Given the description of an element on the screen output the (x, y) to click on. 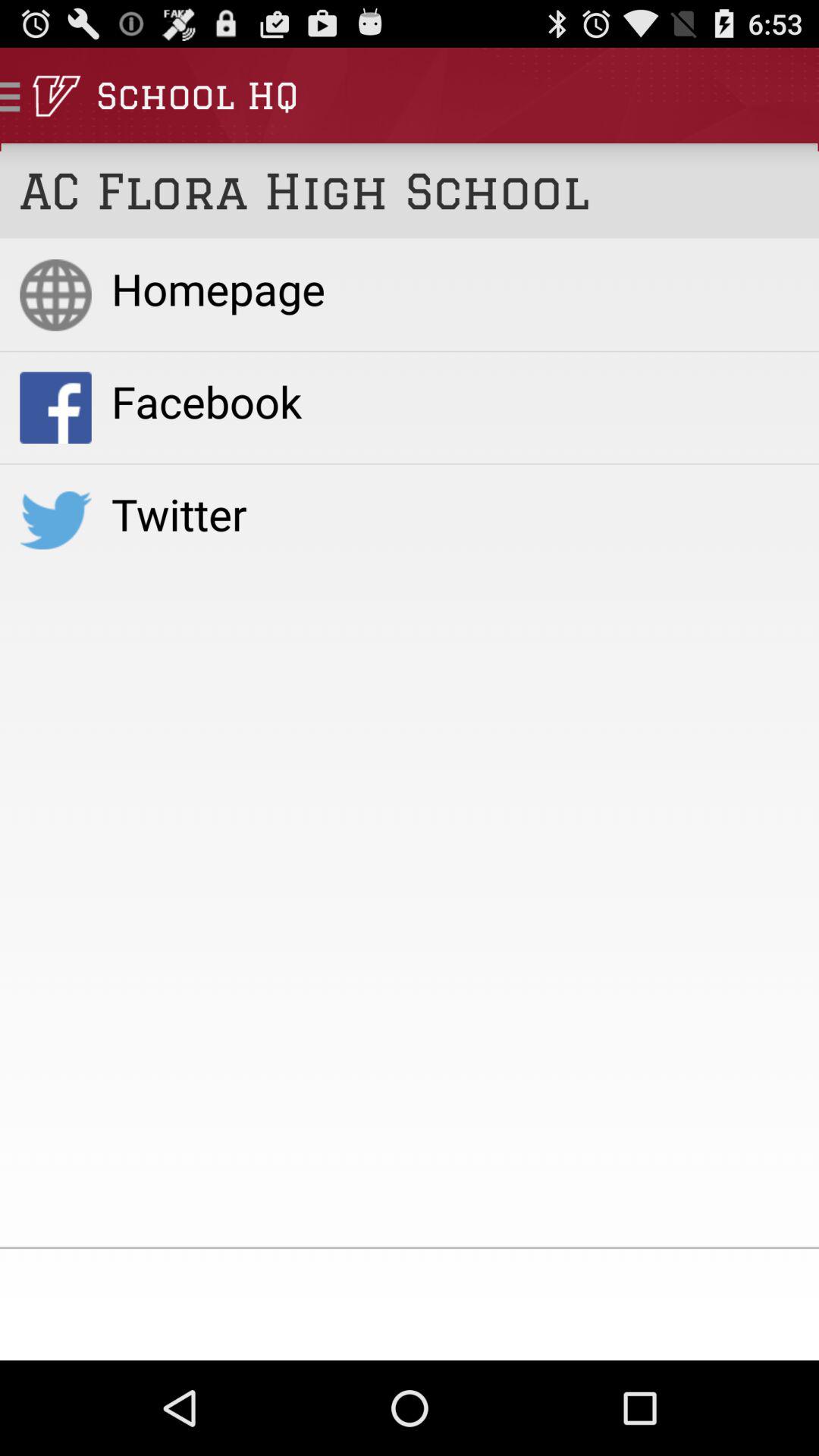
turn on item below ac flora high (455, 288)
